Given the description of an element on the screen output the (x, y) to click on. 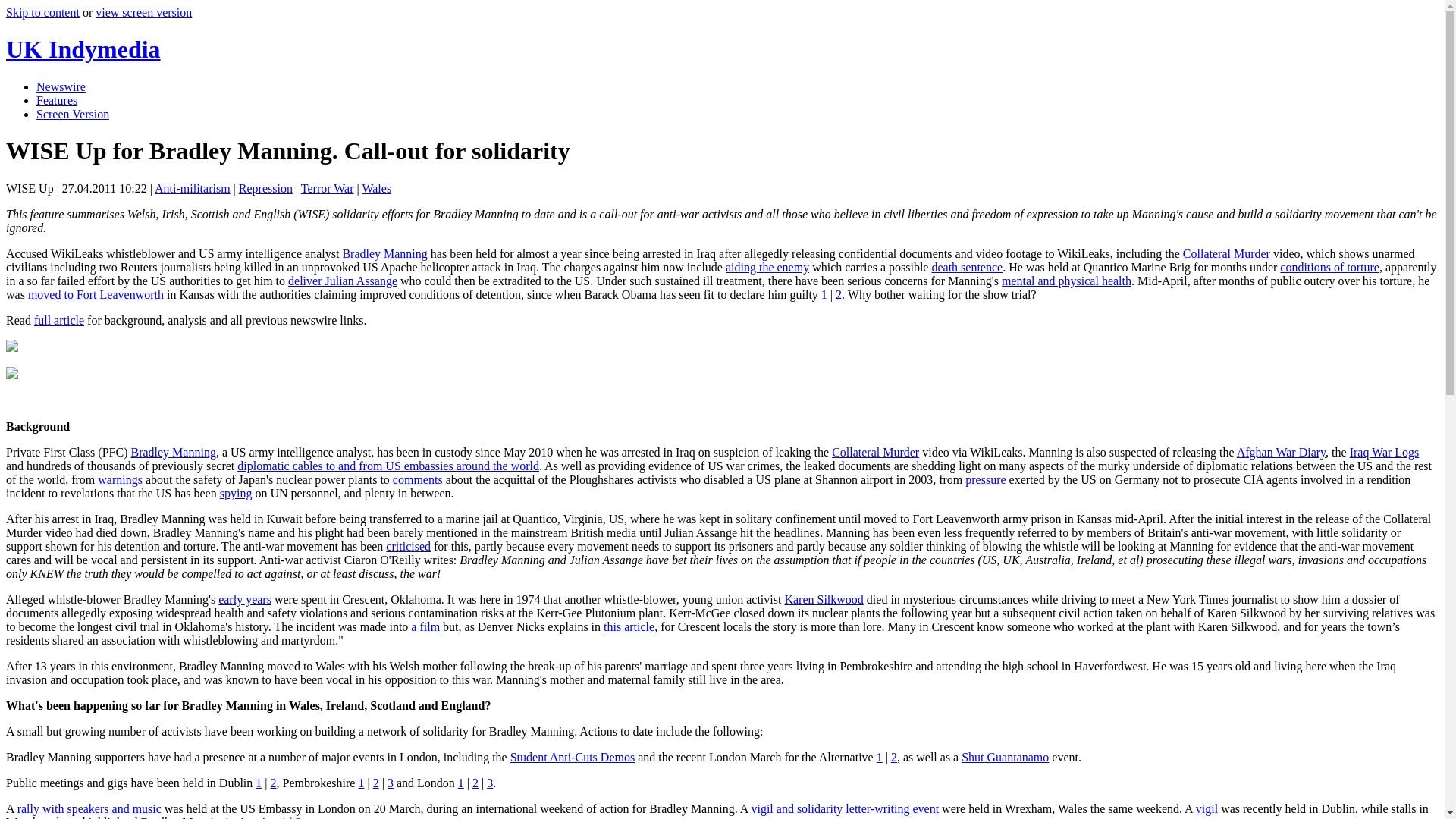
Collateral Murder (1225, 253)
Wales (376, 187)
Newswire (60, 86)
Repression (265, 187)
warnings (119, 479)
Bradley Manning (384, 253)
spying (235, 492)
this article (628, 626)
pressure (985, 479)
Terror War (327, 187)
